Given the description of an element on the screen output the (x, y) to click on. 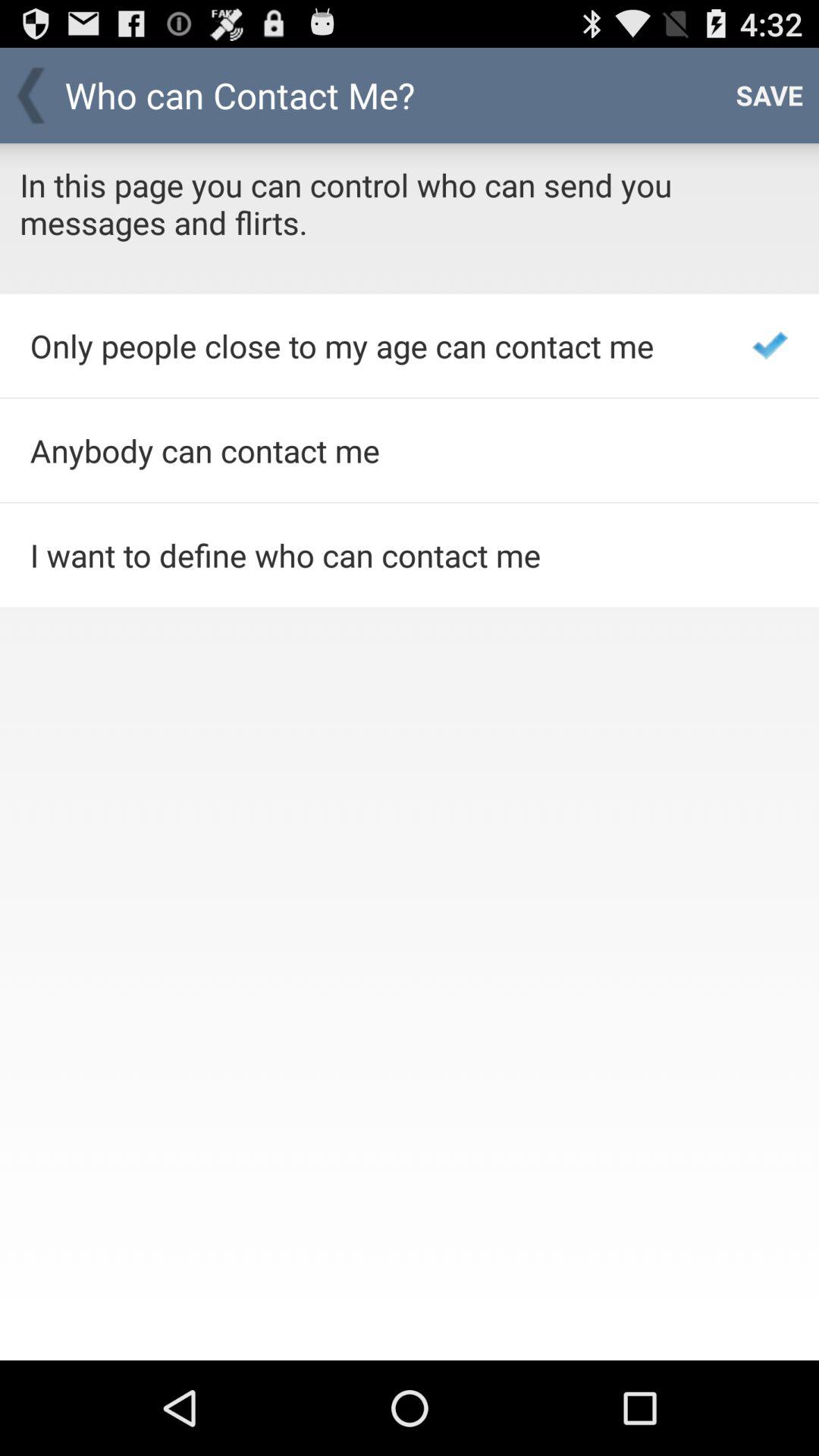
press app next to the who can contact (769, 95)
